Given the description of an element on the screen output the (x, y) to click on. 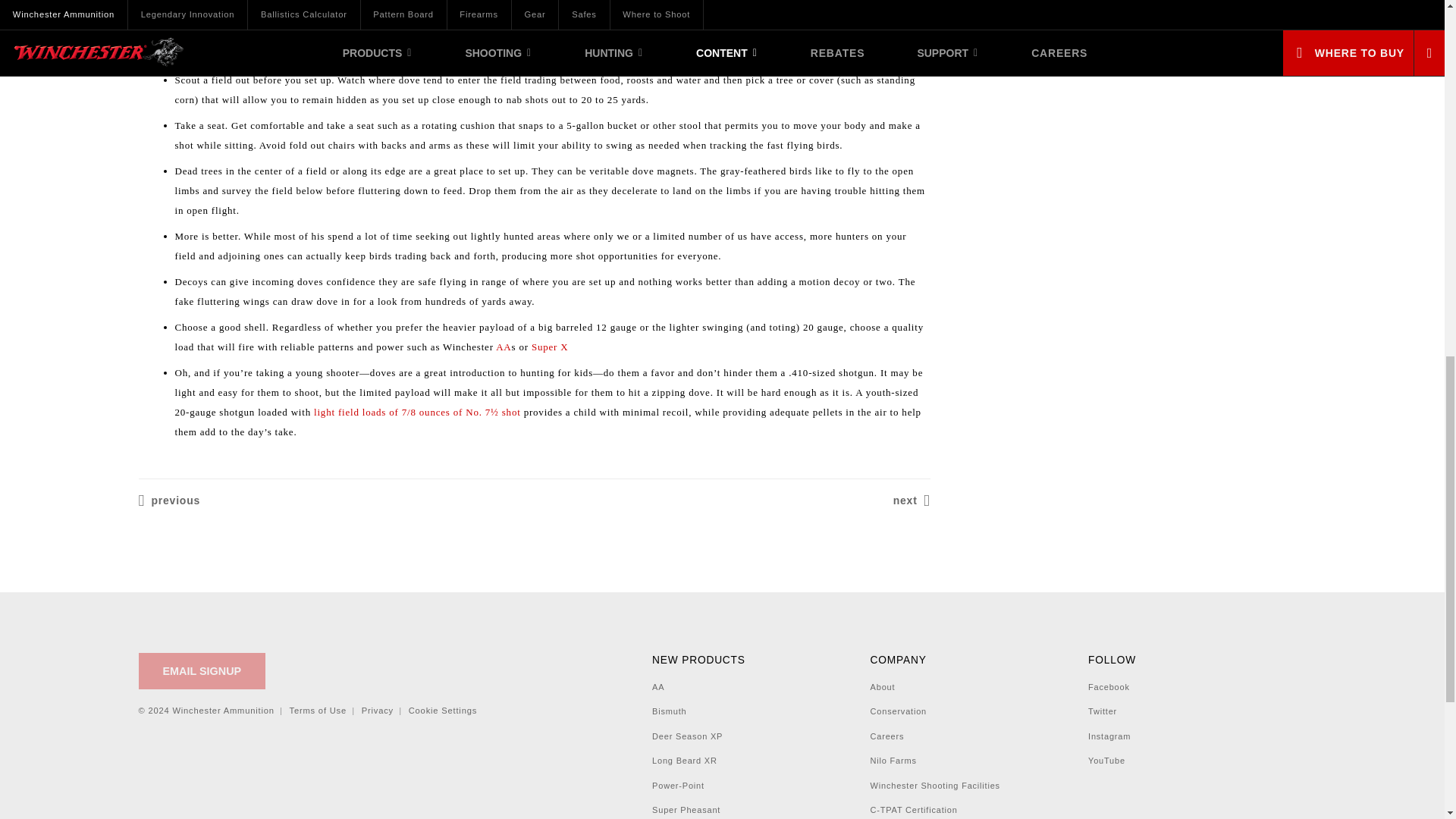
on (721, 58)
